Given the description of an element on the screen output the (x, y) to click on. 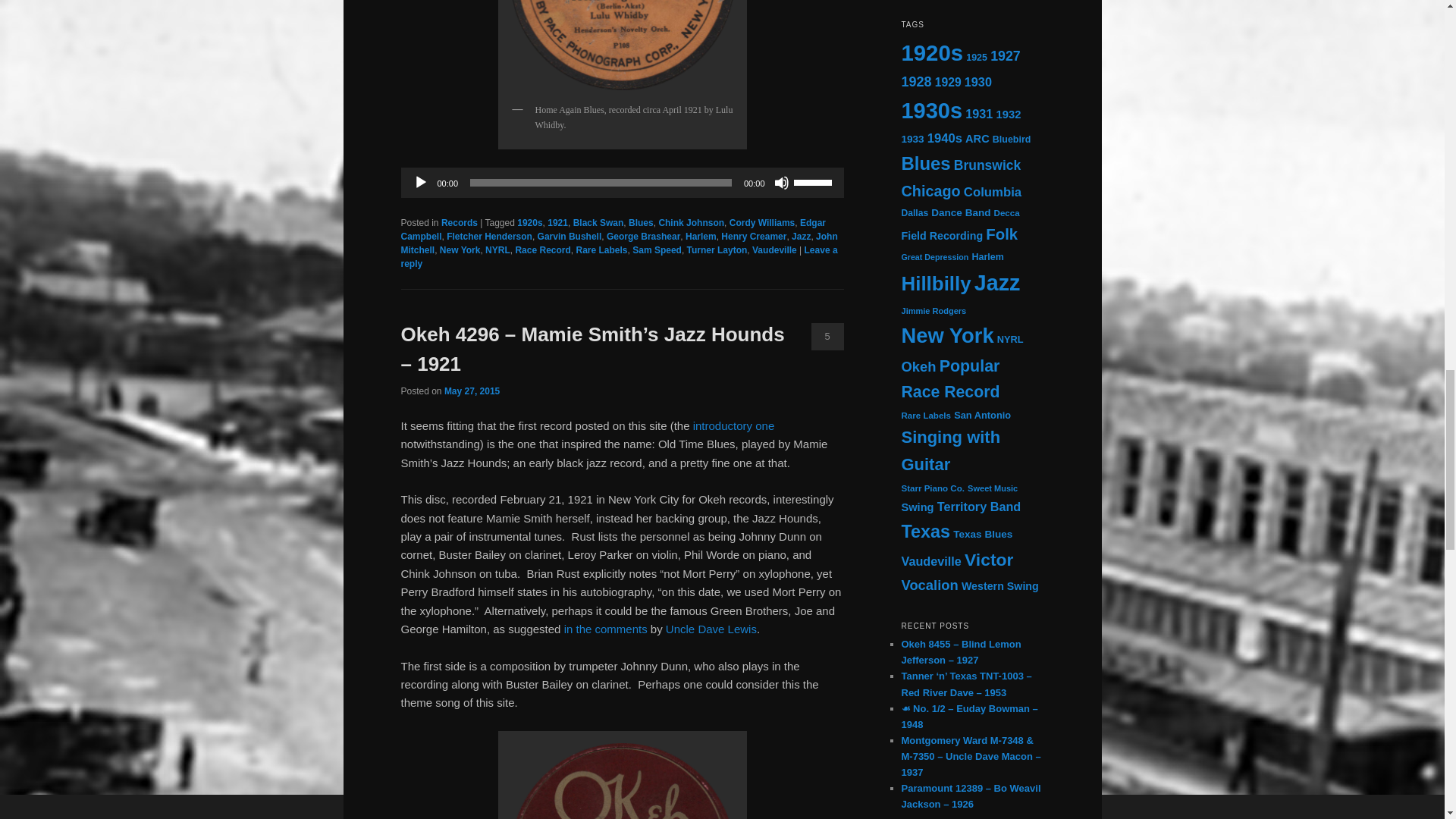
5:06 pm (471, 390)
Play (420, 182)
Mute (781, 182)
